Given the description of an element on the screen output the (x, y) to click on. 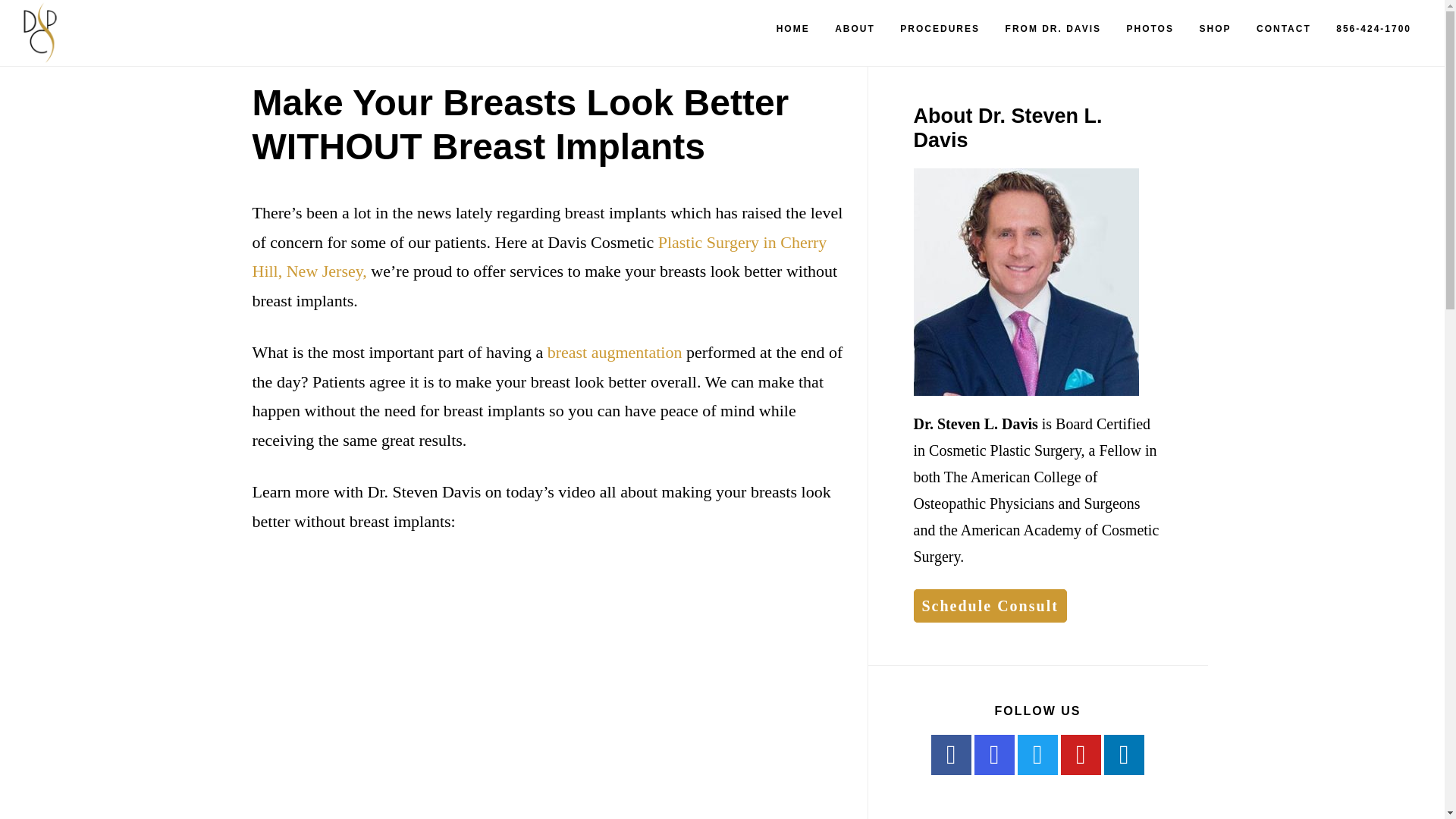
FROM DR. DAVIS (1053, 28)
PROCEDURES (939, 28)
CONTACT (1284, 28)
DR. STEVEN DAVIS (98, 32)
Facebook (951, 754)
PHOTOS (1150, 28)
Twitter (1037, 754)
LinkedIn (1123, 754)
YouTube (1080, 754)
HOME (793, 28)
SHOP (1214, 28)
ABOUT (854, 28)
Instagram (994, 754)
Davis CPS Procedures (939, 28)
